Given the description of an element on the screen output the (x, y) to click on. 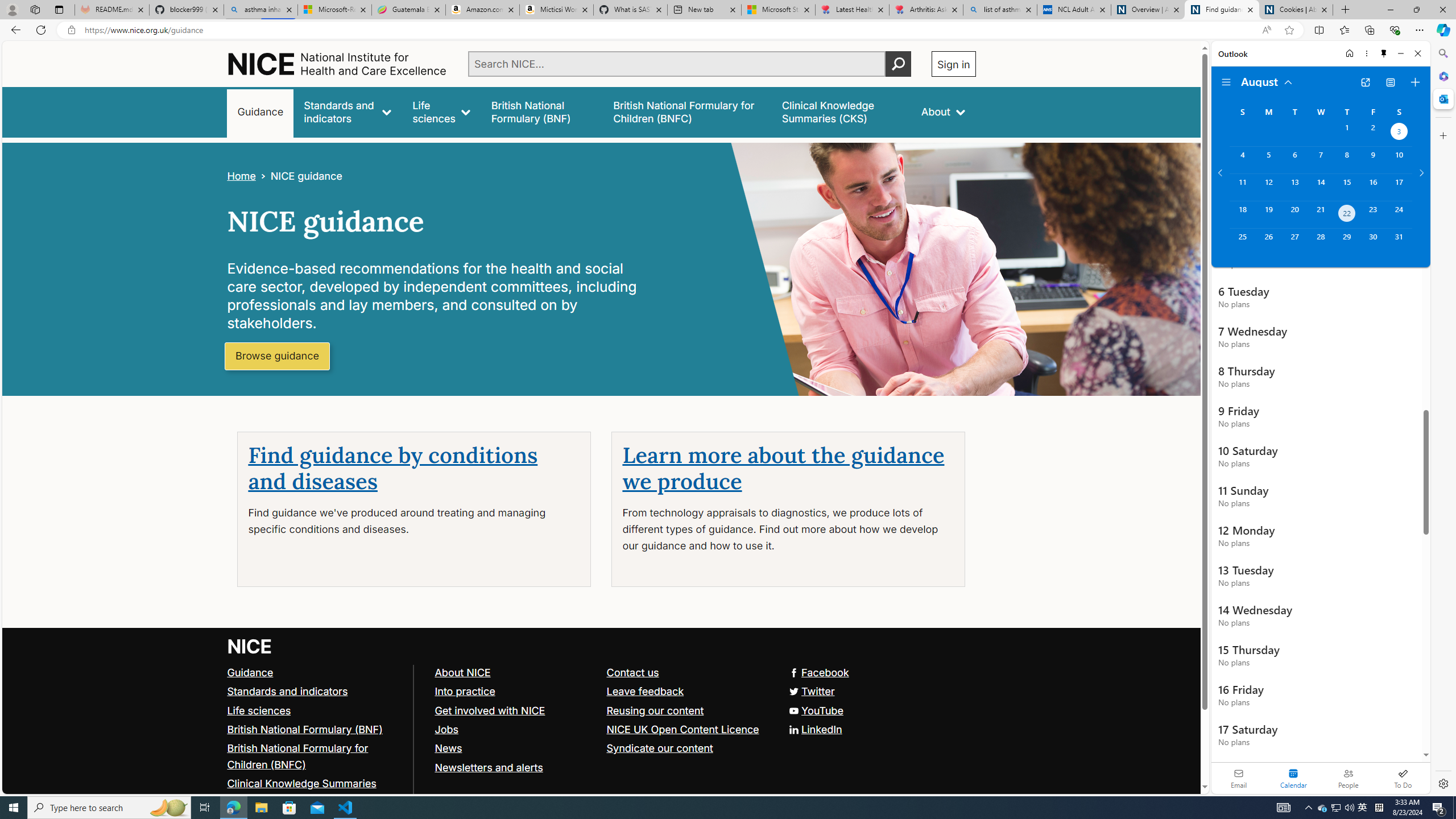
Monday, August 19, 2024.  (1268, 214)
Browse guidance (277, 356)
Facebook (817, 671)
Learn more about the guidance we produce (782, 468)
Saturday, August 17, 2024.  (1399, 186)
Go to NICE home page (250, 645)
Tuesday, August 27, 2024.  (1294, 241)
Tuesday, August 13, 2024.  (1294, 186)
